Given the description of an element on the screen output the (x, y) to click on. 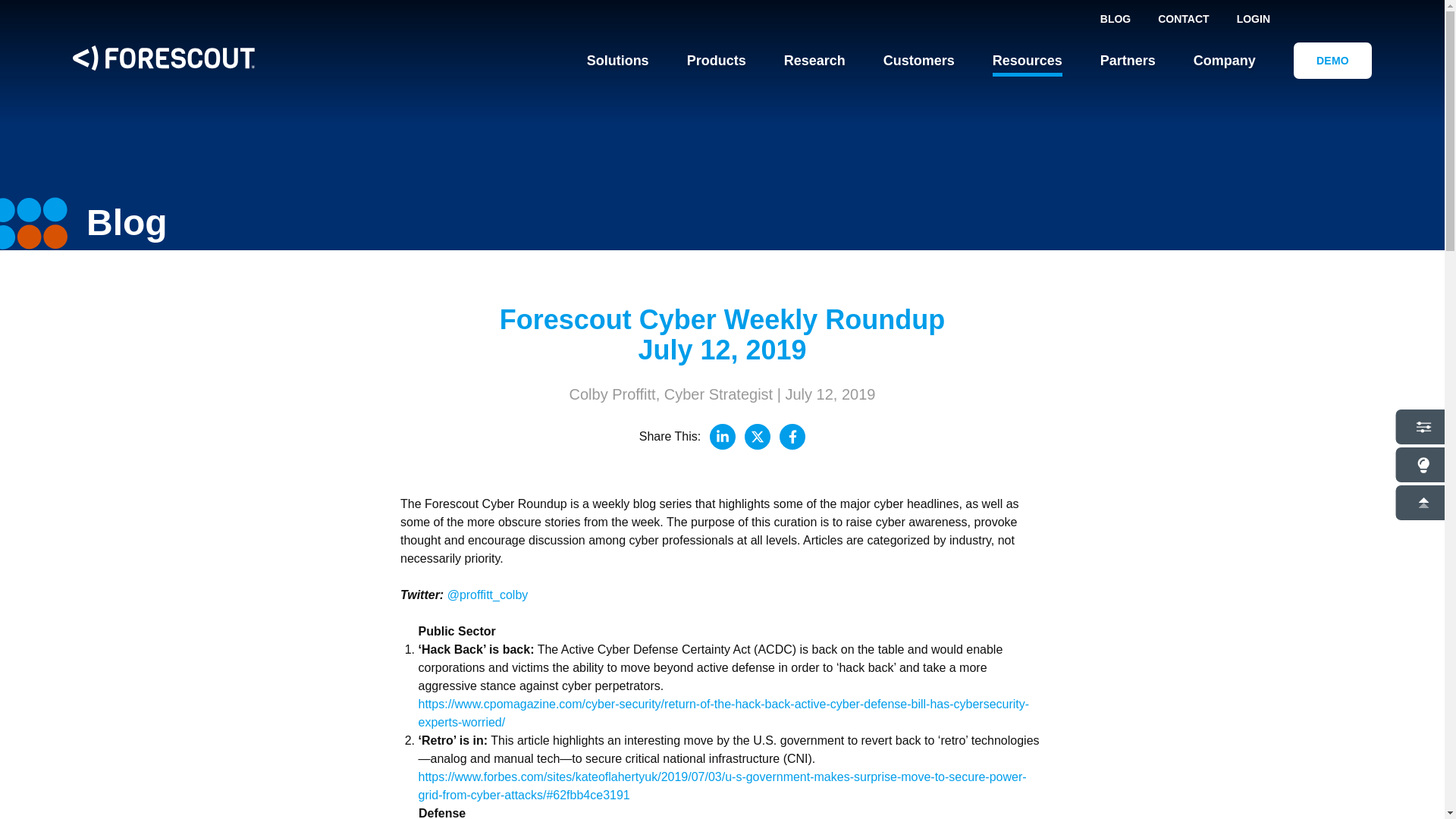
BLOG (1115, 18)
Forescout (163, 57)
CONTACT (1182, 18)
Forescout (163, 60)
Forescout (163, 60)
OPEN SEARCH (1352, 18)
SELECT REGION (1306, 18)
Contact (1182, 18)
Solutions (617, 60)
LOGIN (1253, 18)
Blog (1115, 18)
Products (716, 60)
Solutions (617, 60)
Login (1253, 18)
